Given the description of an element on the screen output the (x, y) to click on. 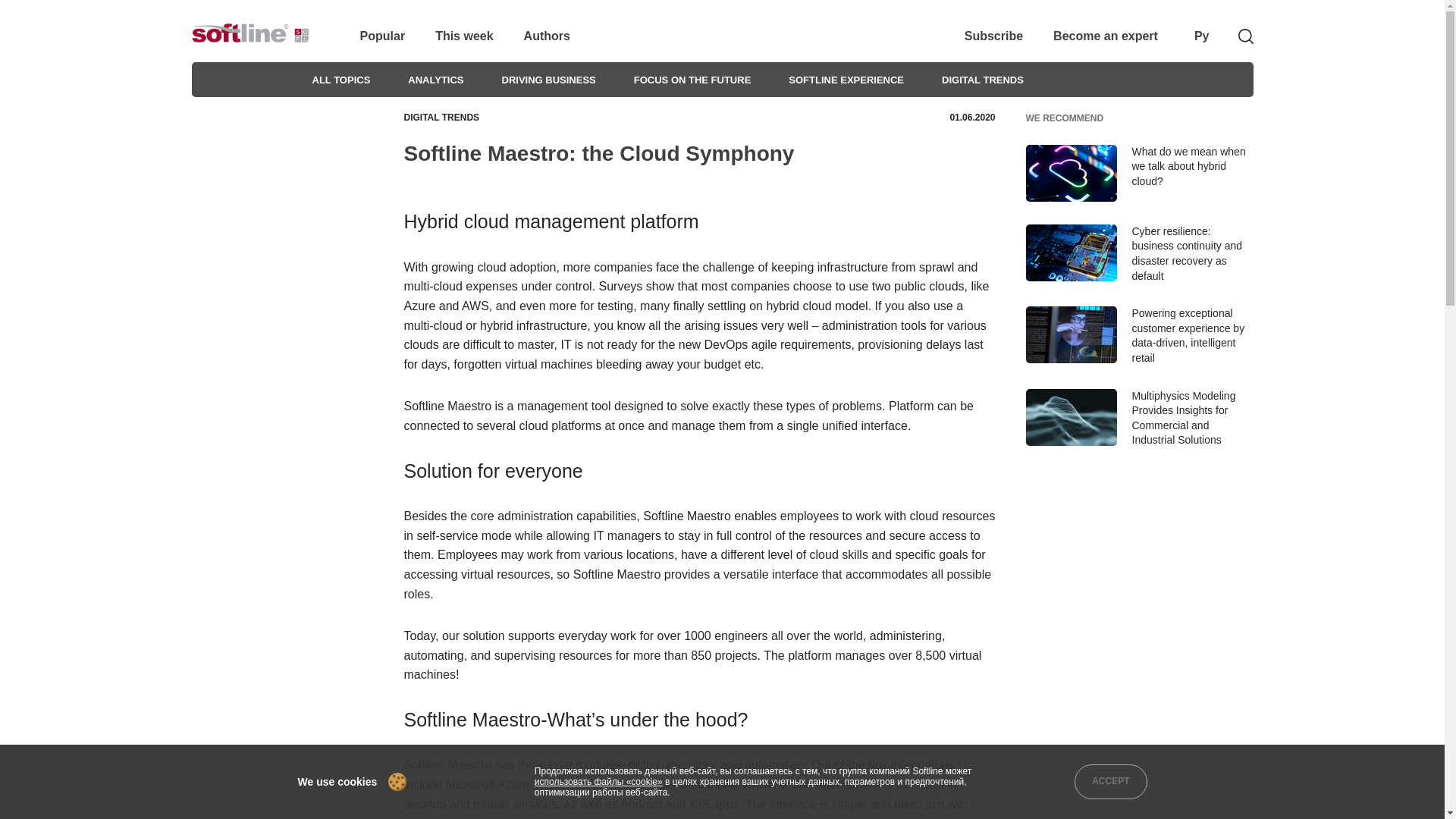
FOCUS ON THE FUTURE (692, 79)
Popular (382, 35)
DRIVING BUSINESS (548, 79)
What do we mean when we talk about hybrid cloud? (1138, 184)
search (1234, 36)
ANALYTICS (435, 79)
Authors (547, 35)
ALL TOPICS (342, 79)
SOFTLINE EXPERIENCE (846, 79)
Subscribe (993, 35)
This week (464, 35)
Become an expert (1104, 35)
